Given the description of an element on the screen output the (x, y) to click on. 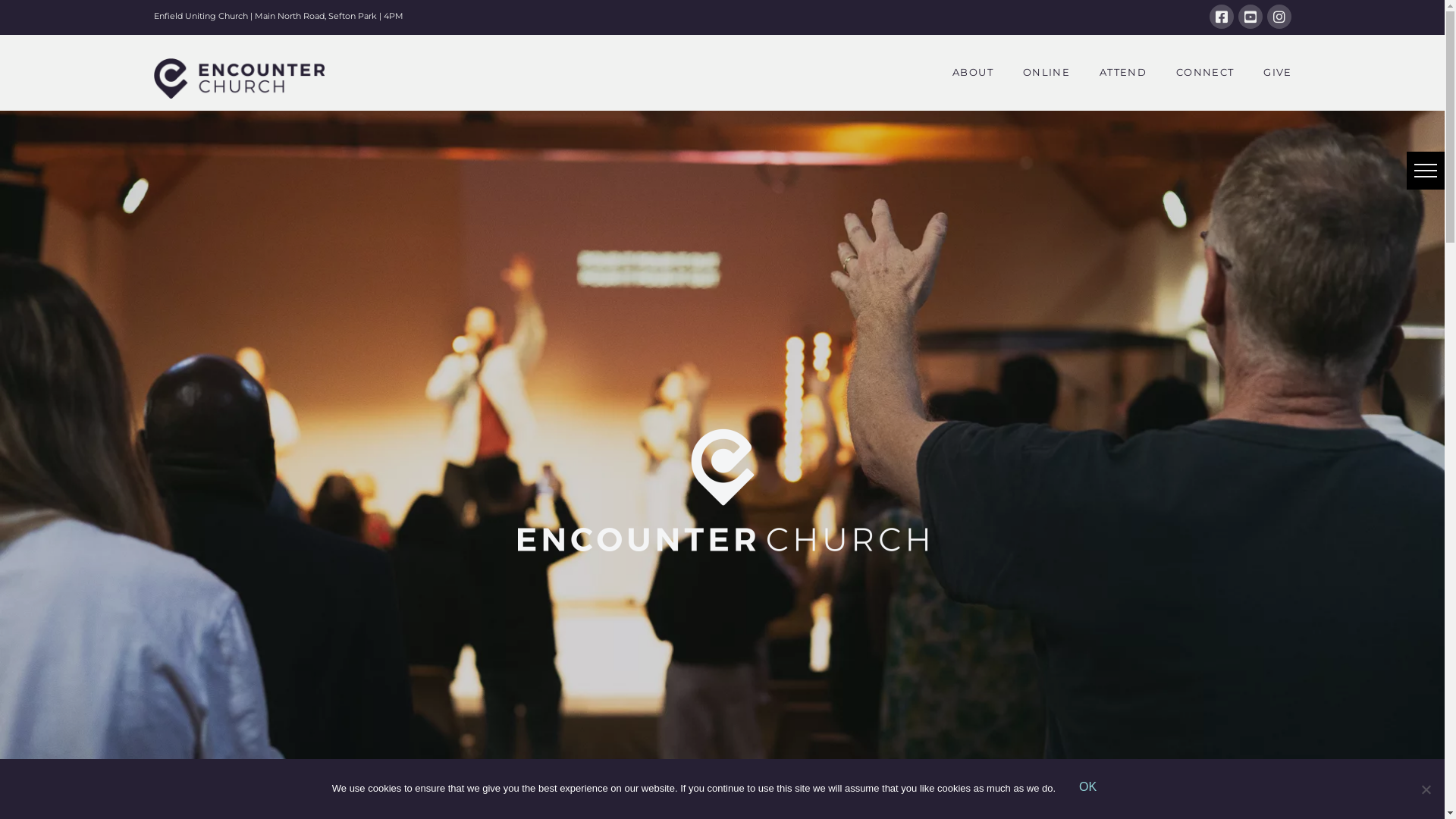
ATTEND Element type: text (1122, 72)
ONLINE Element type: text (1045, 72)
No Element type: hover (1425, 789)
ABOUT Element type: text (972, 72)
CONNECT Element type: text (1204, 72)
YouTube Element type: hover (1249, 16)
Facebook Element type: hover (1220, 16)
Instagram Element type: hover (1278, 16)
OK Element type: text (1087, 788)
GIVE Element type: text (1269, 72)
